Given the description of an element on the screen output the (x, y) to click on. 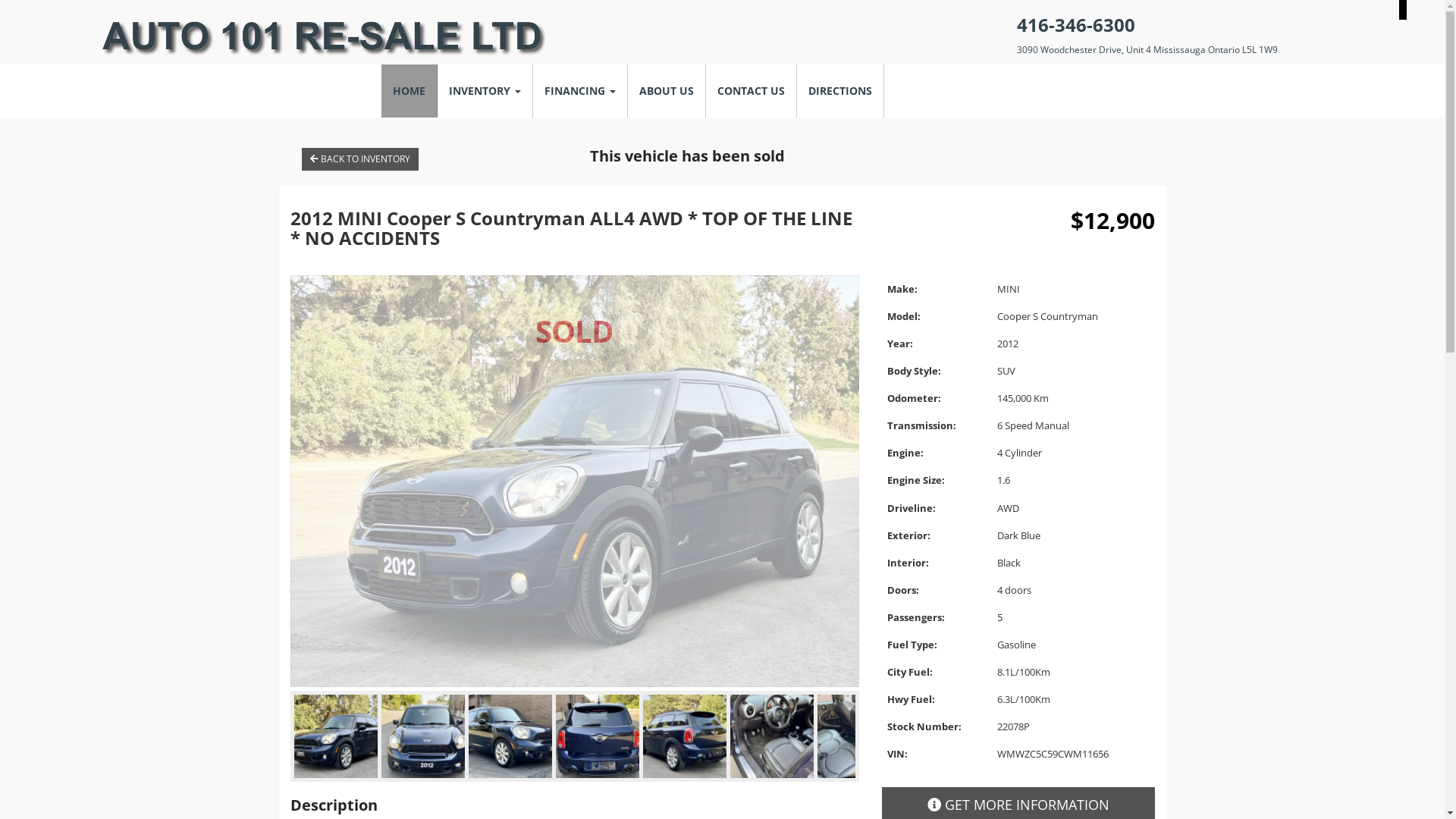
416-346-6300 Element type: text (1075, 24)
DIRECTIONS Element type: text (839, 90)
HOME Element type: text (408, 90)
FINANCING Element type: text (579, 90)
INVENTORY Element type: text (484, 90)
CONTACT US Element type: text (750, 90)
3090 Woodchester Drive, Unit 4 Mississauga Ontario L5L 1W9 Element type: text (1146, 49)
 BACK TO INVENTORY Element type: text (359, 158)
ABOUT US Element type: text (666, 90)
